Given the description of an element on the screen output the (x, y) to click on. 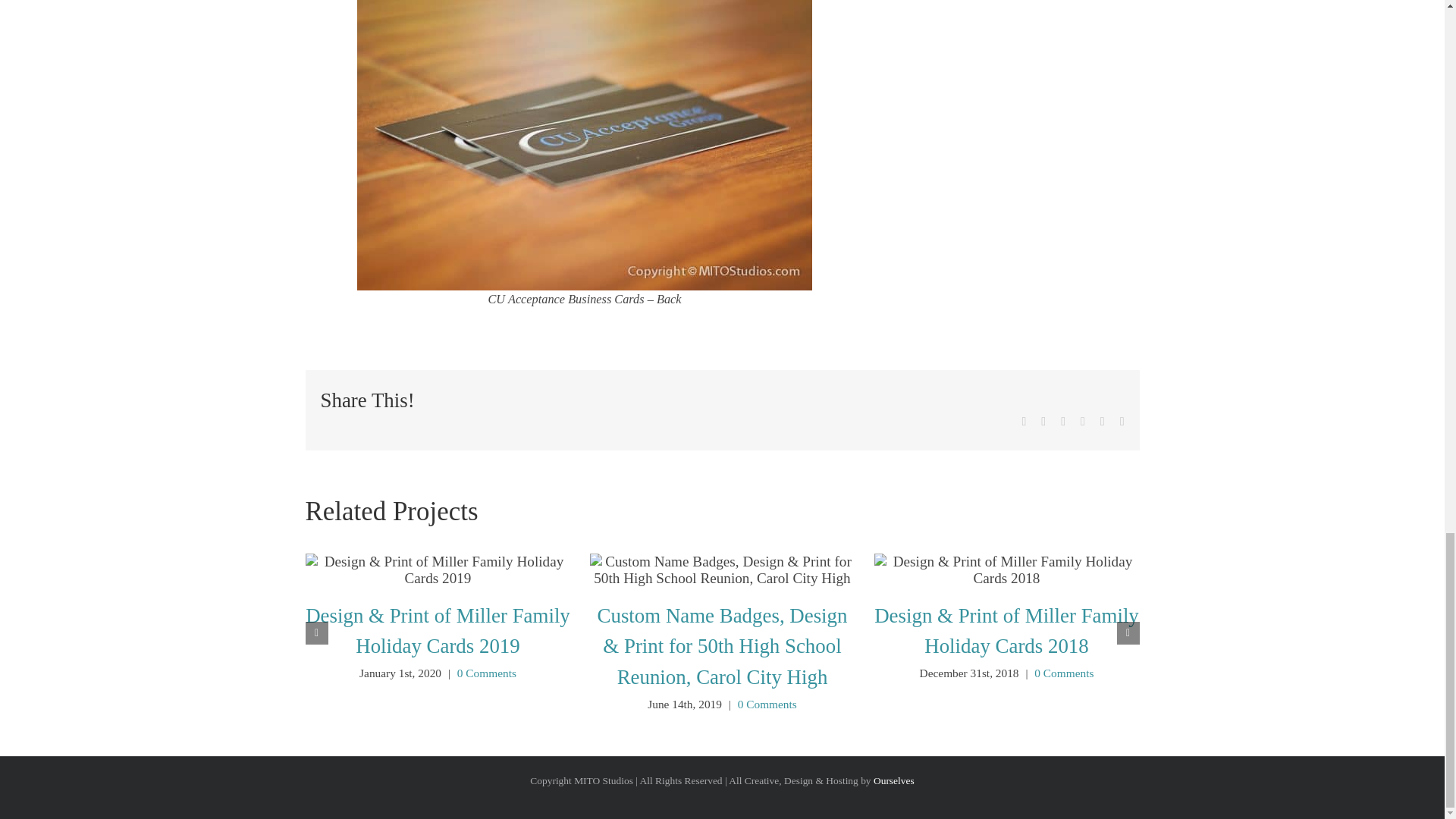
CU-Acceptance-Business-Cards (584, 145)
